Given the description of an element on the screen output the (x, y) to click on. 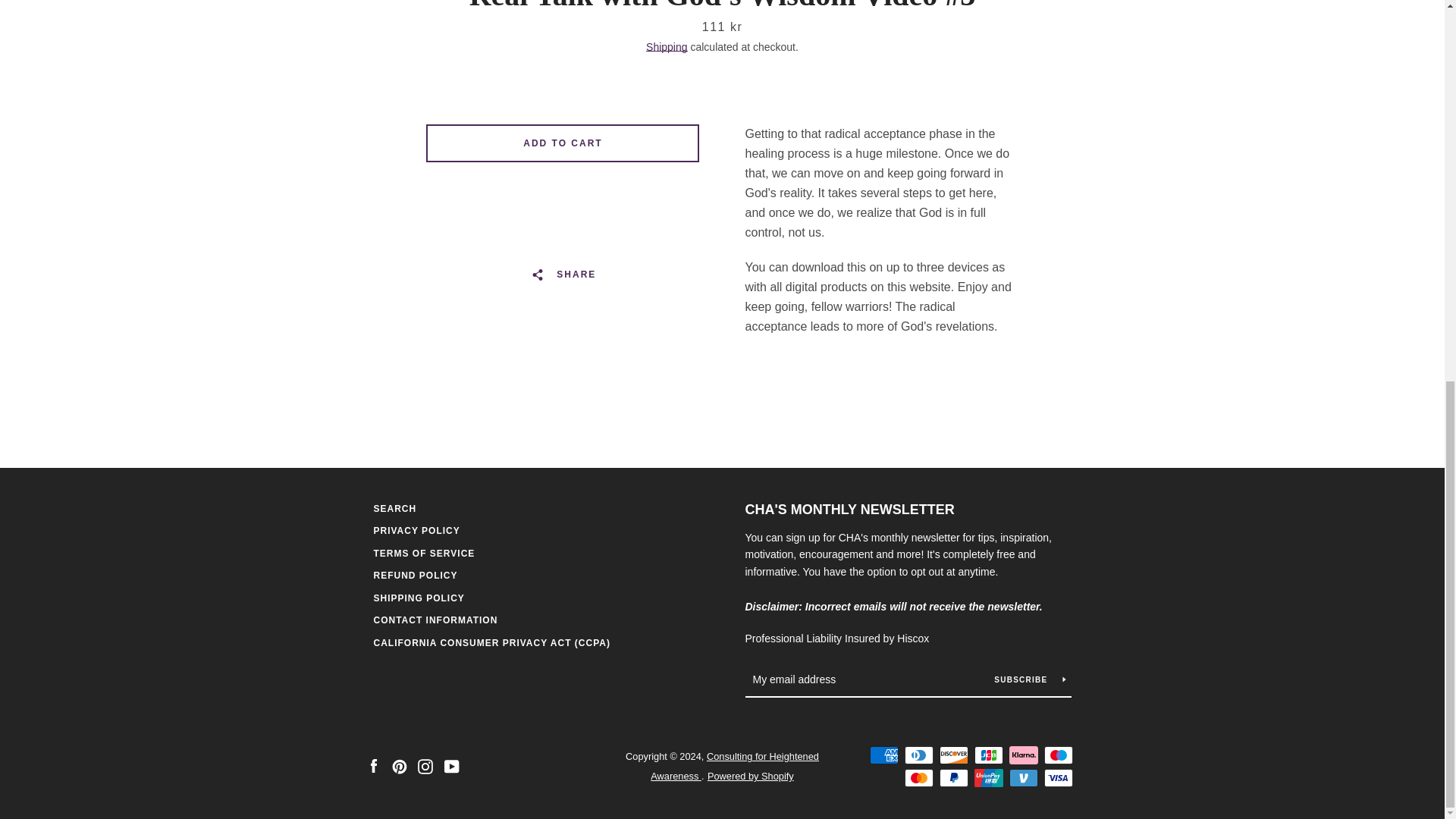
ADD TO CART (562, 143)
Mastercard (918, 66)
Venmo (1022, 66)
Discover (953, 44)
Consulting for Heightened Awareness  on Pinterest (399, 53)
Diners Club (918, 44)
JCB (988, 44)
Consulting for Heightened Awareness  on Instagram (424, 53)
Klarna (1022, 44)
Shipping (666, 46)
PayPal (953, 66)
Union Pay (988, 66)
Consulting for Heightened Awareness  on Facebook (372, 53)
Consulting for Heightened Awareness  on YouTube (452, 53)
SHARE (563, 274)
